Given the description of an element on the screen output the (x, y) to click on. 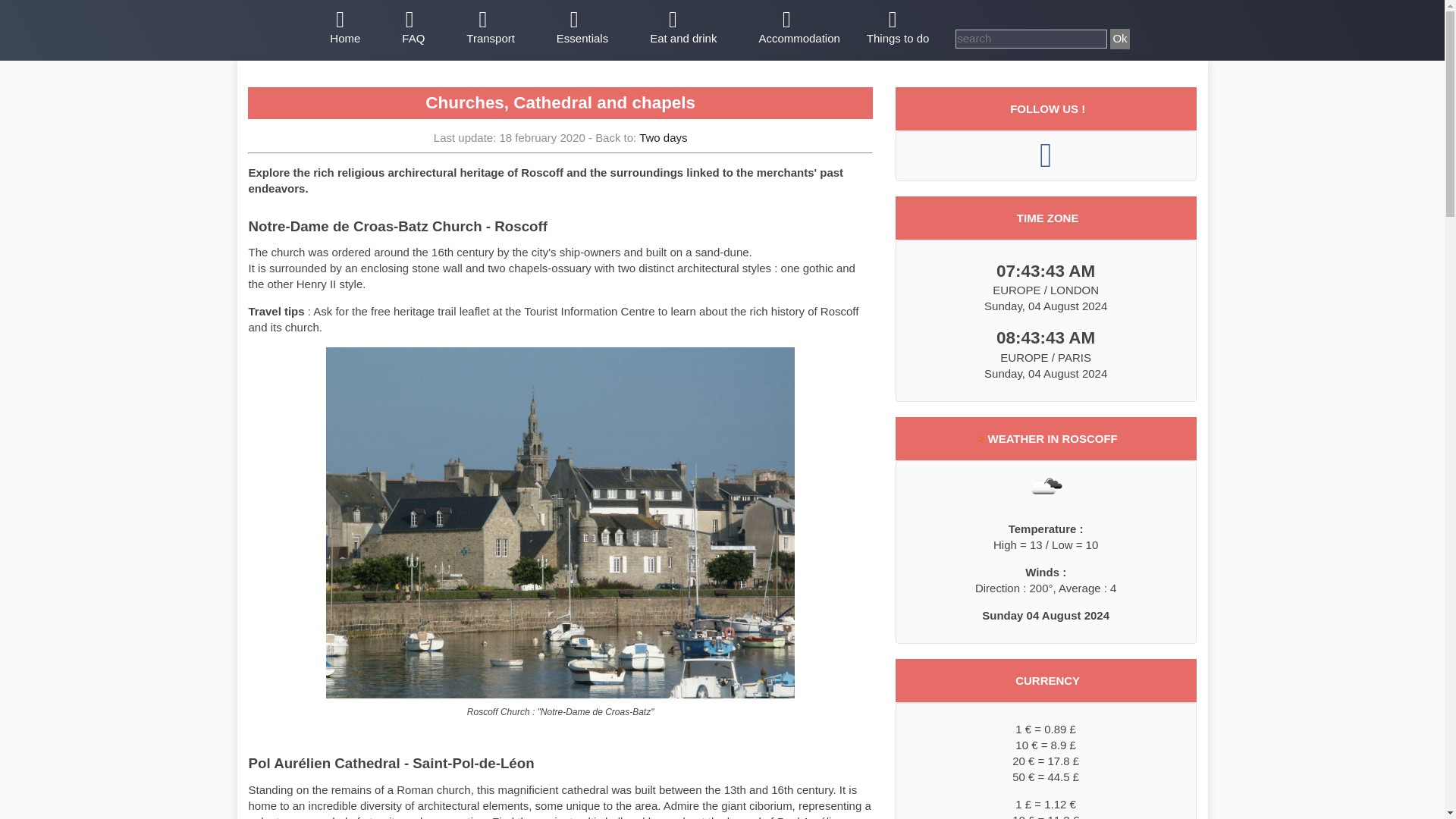
Essentials (582, 29)
Two days (663, 137)
FAQ (413, 29)
Ok (1119, 38)
Essentials (582, 29)
Ok (1119, 38)
Ok (1119, 38)
Accommodation (798, 29)
Home (344, 29)
Eat and drink (683, 29)
Eat and drink (683, 29)
Transport (490, 29)
Two days (663, 137)
Transport (490, 29)
Home (344, 29)
